Given the description of an element on the screen output the (x, y) to click on. 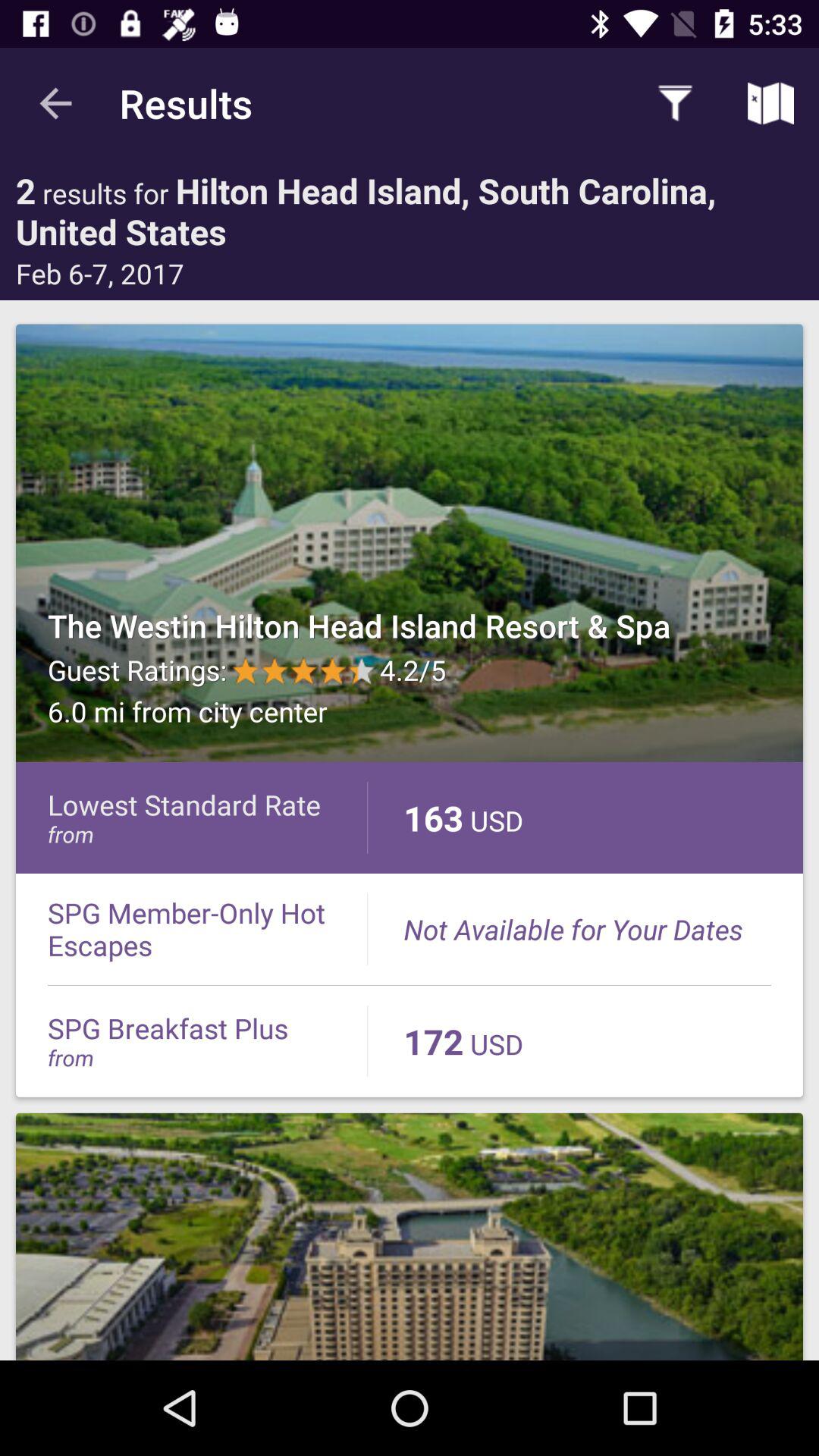
turn on the icon next to the results (55, 103)
